Given the description of an element on the screen output the (x, y) to click on. 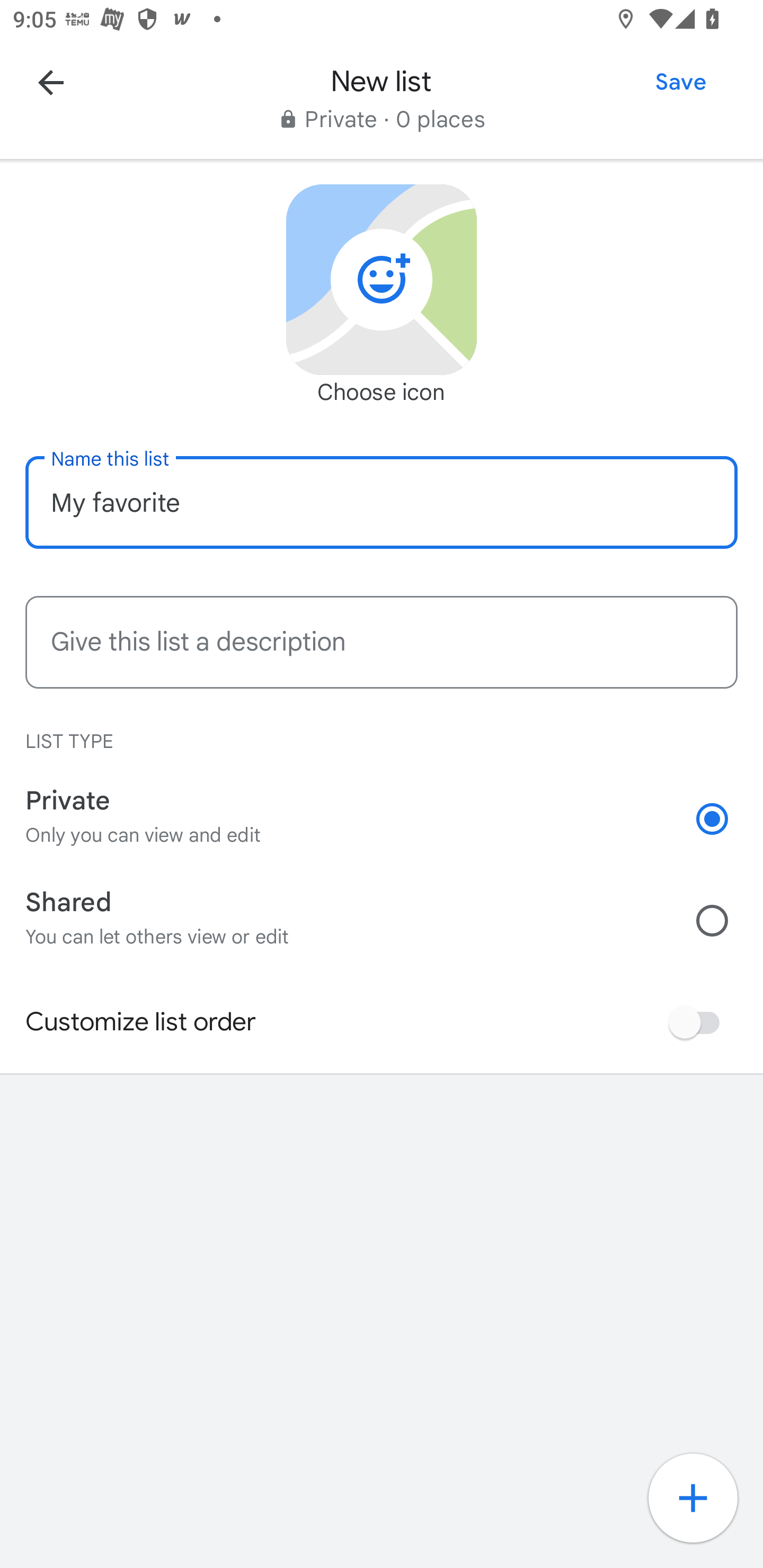
Navigate up (50, 81)
Save (680, 81)
Choose icon (381, 279)
My favorite (381, 502)
Give this list a description (381, 641)
Private (724, 818)
Shared (724, 920)
Customize list order (699, 1021)
Add place to list (702, 1507)
